Given the description of an element on the screen output the (x, y) to click on. 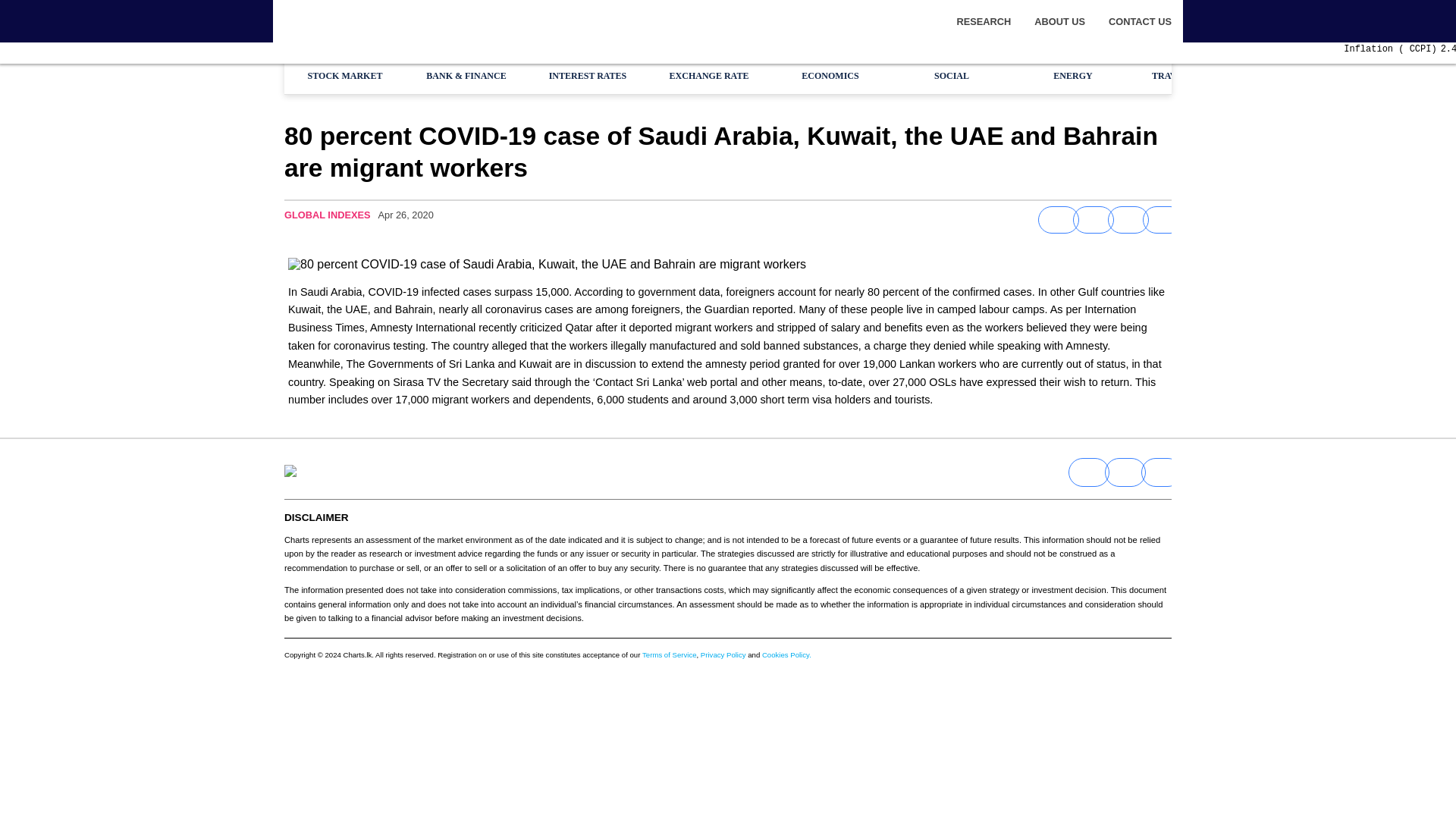
STOCK MARKET (344, 75)
ABOUT US (1070, 20)
INTEREST RATES (587, 75)
Privacy Policy (722, 654)
RESEARCH (994, 20)
ENERGY (1072, 75)
Cookies Policy. (785, 654)
SOCIAL (951, 75)
EXCHANGE RATE (708, 75)
CONTACT US (1140, 20)
Terms of Service (668, 654)
ECONOMICS (830, 75)
